Given the description of an element on the screen output the (x, y) to click on. 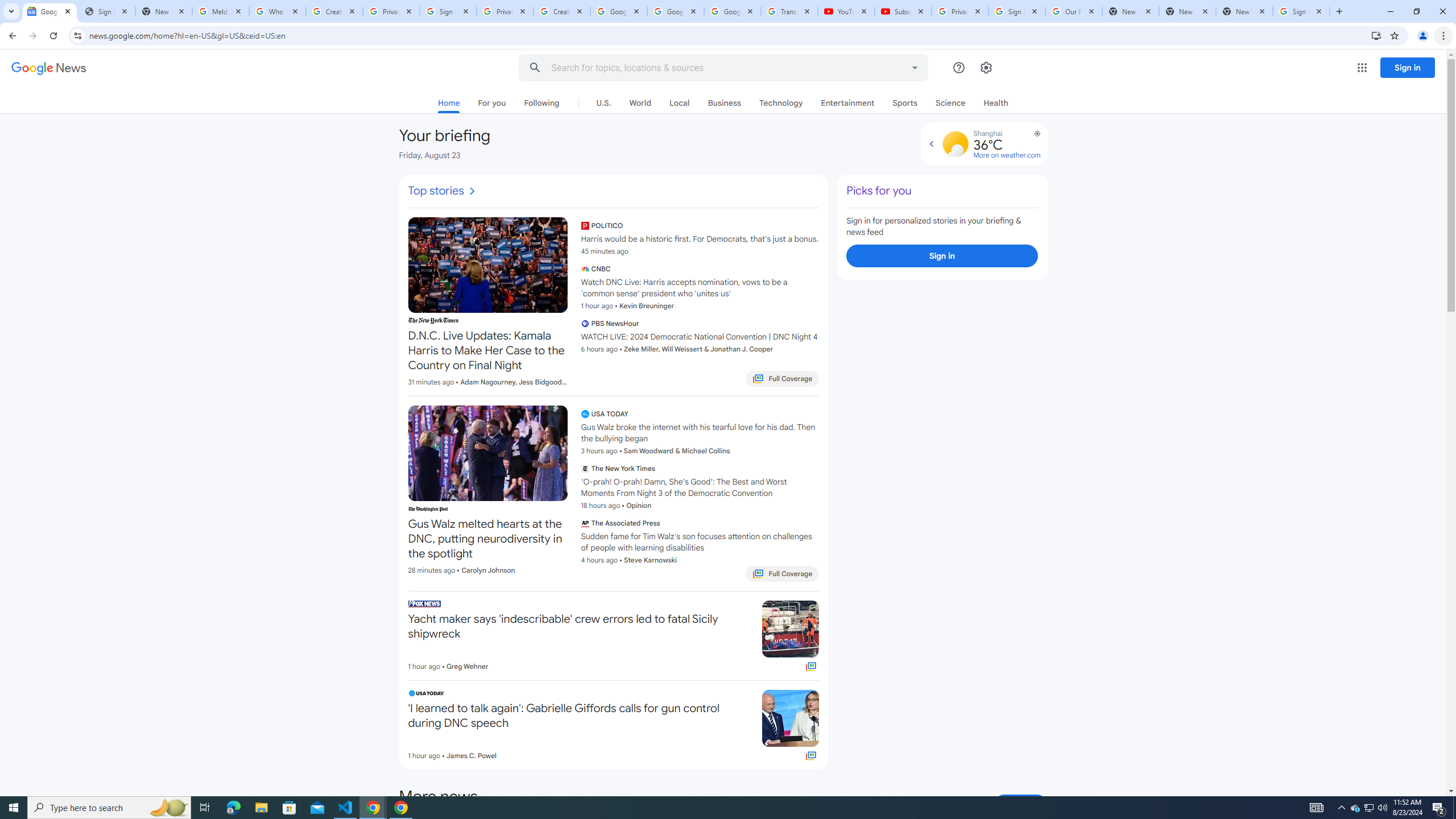
Health (995, 102)
For you (491, 102)
Business (724, 102)
Sign in - Google Accounts (1015, 11)
